Given the description of an element on the screen output the (x, y) to click on. 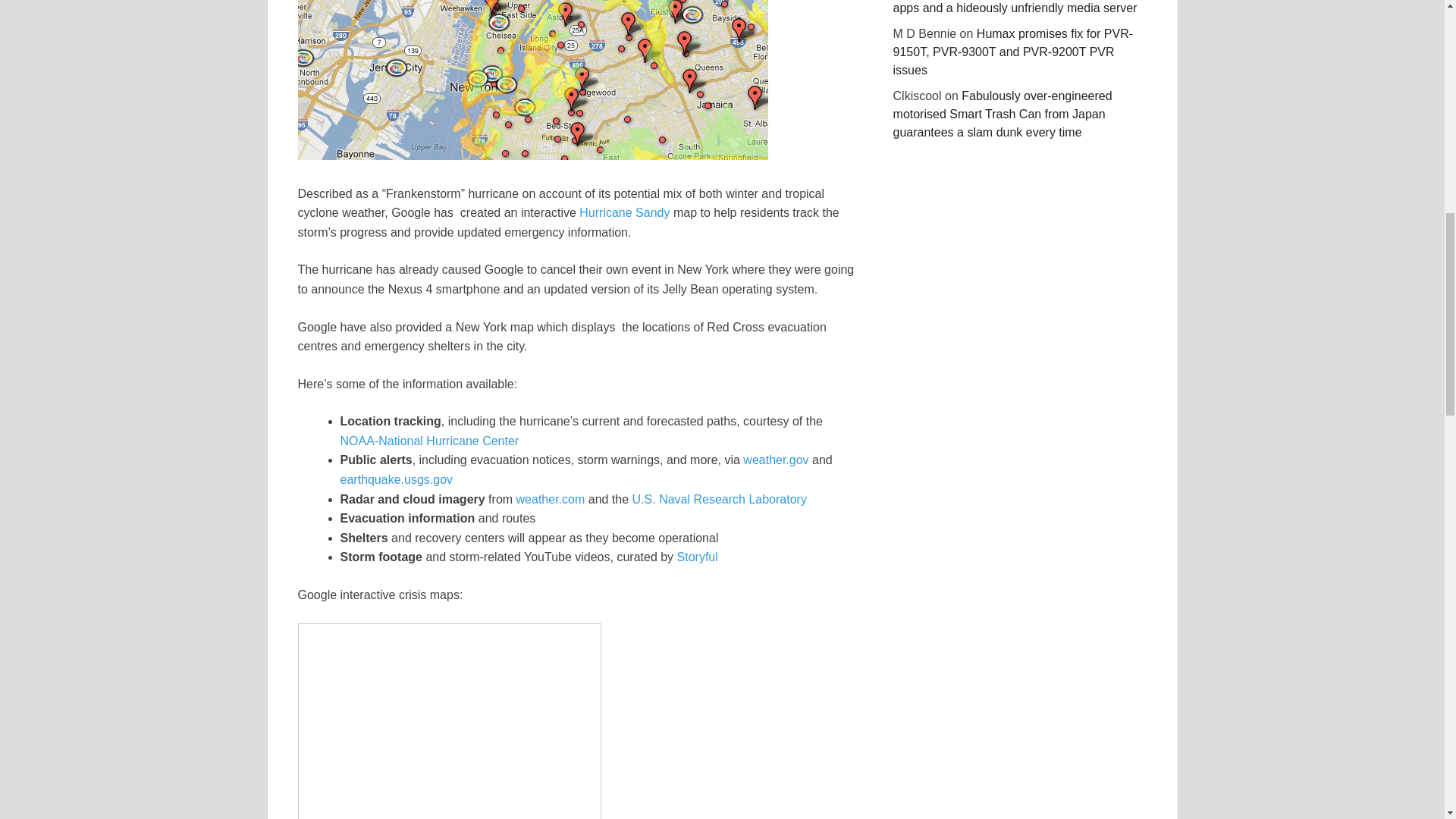
NOAA-National Hurricane Center (428, 440)
earthquake.usgs.gov (395, 479)
weather.gov (775, 459)
U.S. Naval Research Laboratory (718, 499)
Storyful (697, 556)
weather.com (550, 499)
Hurricane Sandy (624, 212)
